Given the description of an element on the screen output the (x, y) to click on. 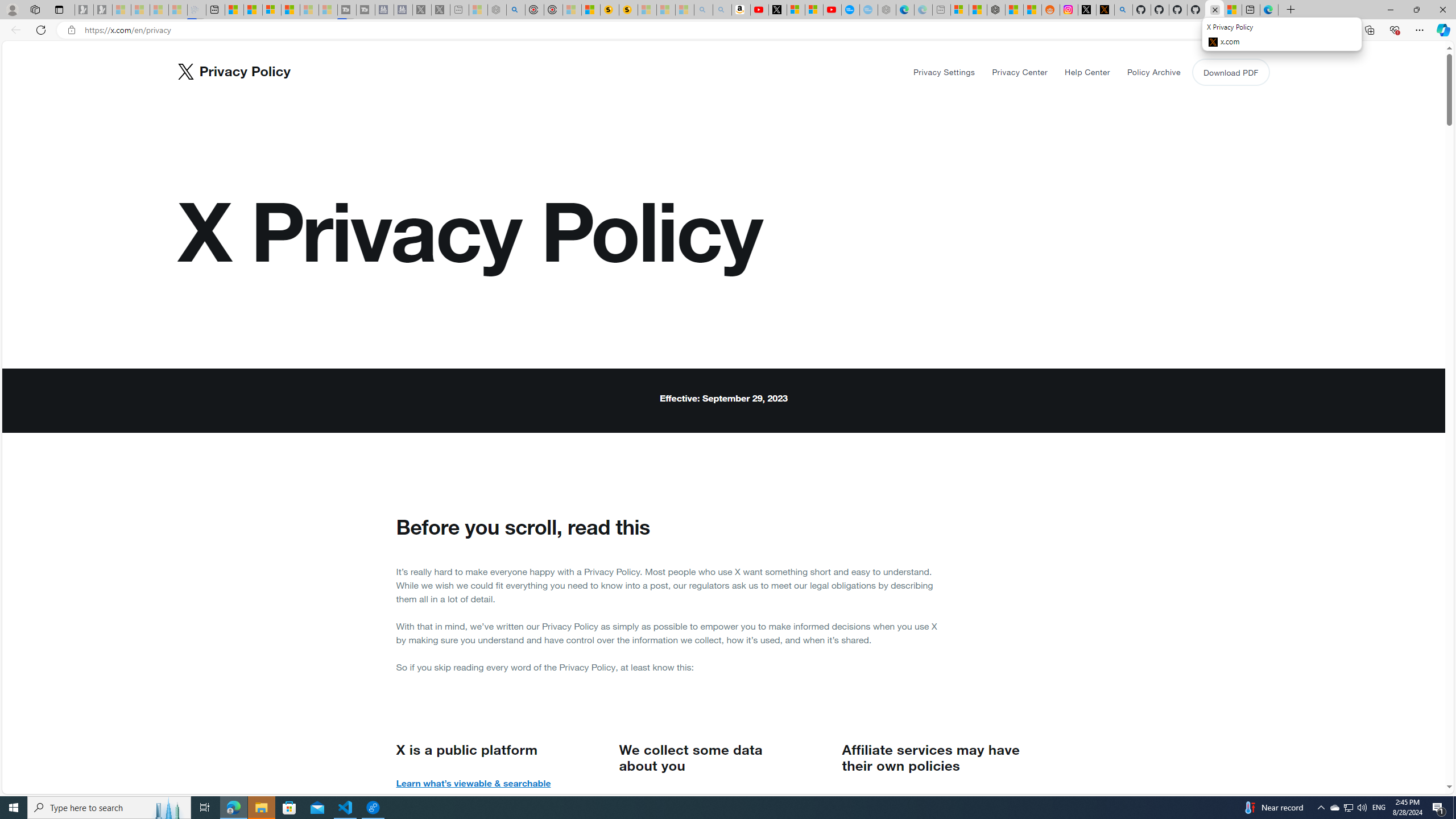
poe - Search (515, 9)
Overview (271, 9)
help.x.com | 524: A timeout occurred (1105, 9)
Shanghai, China Weather trends | Microsoft Weather (1032, 9)
Welcome to Microsoft Edge (1268, 9)
Newsletter Sign Up - Sleeping (102, 9)
